Given the description of an element on the screen output the (x, y) to click on. 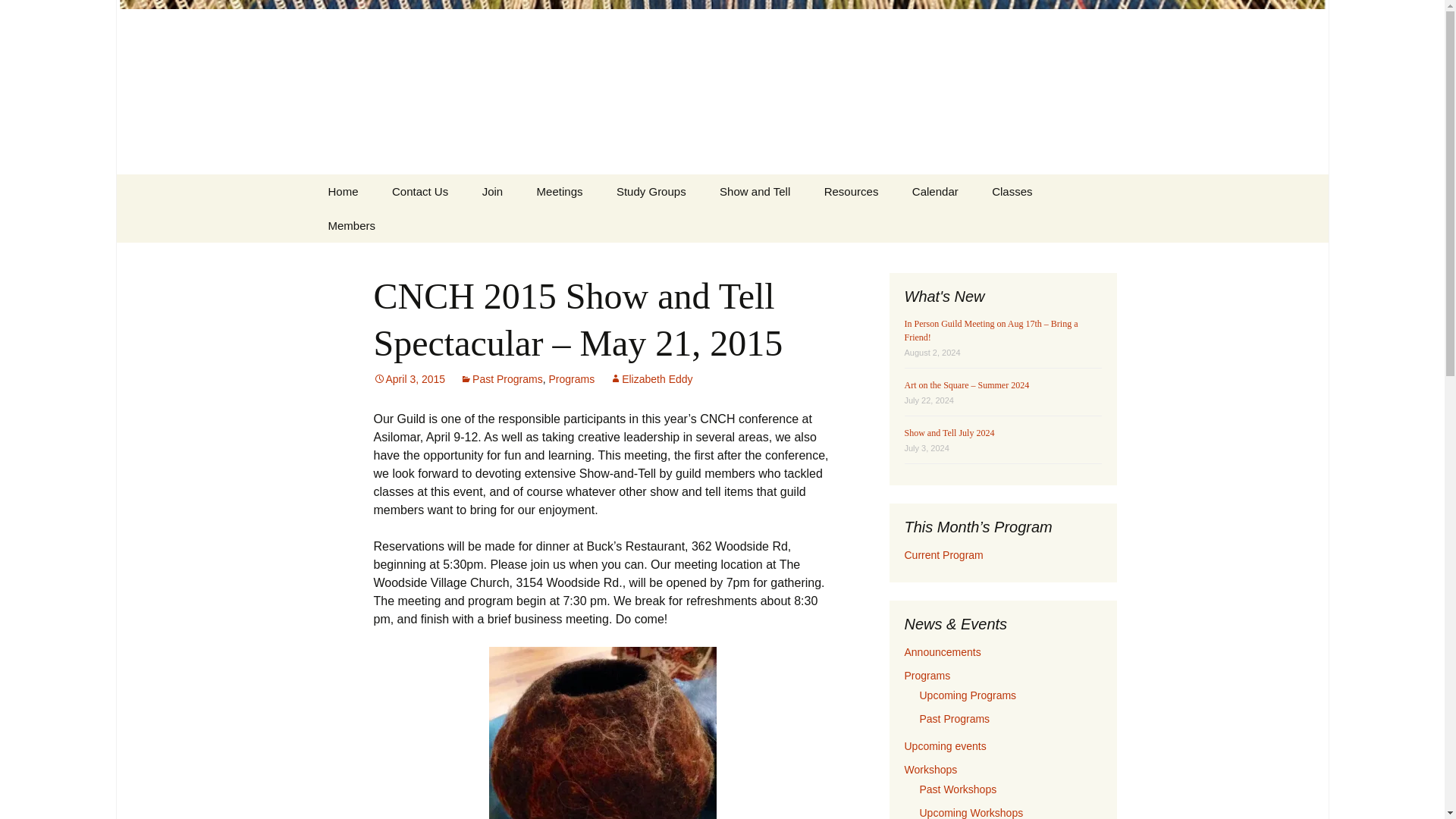
Programs (571, 378)
Creative Endeavors Study Group (676, 230)
Elizabeth Eddy (651, 378)
Join (492, 191)
Programs (596, 225)
Study Groups (651, 191)
Contact Us (420, 191)
April 3, 2015 (408, 378)
Classes (1011, 191)
Search (18, 15)
Member Websites (884, 225)
Resources (851, 191)
View all posts by Elizabeth Eddy (651, 378)
Past Programs (501, 378)
